Given the description of an element on the screen output the (x, y) to click on. 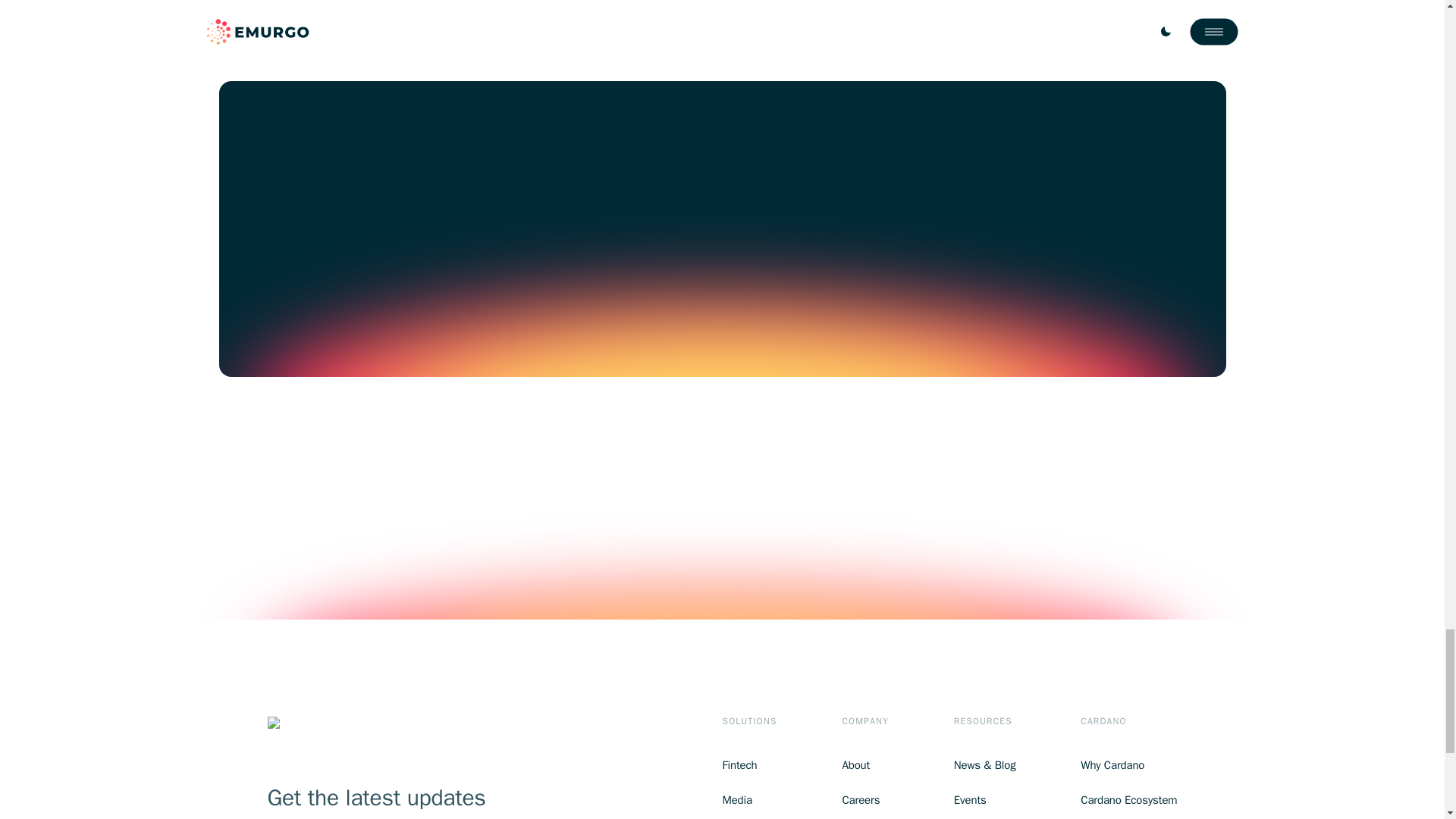
Media (749, 800)
Fintech (749, 764)
Careers (864, 800)
About (864, 764)
